Given the description of an element on the screen output the (x, y) to click on. 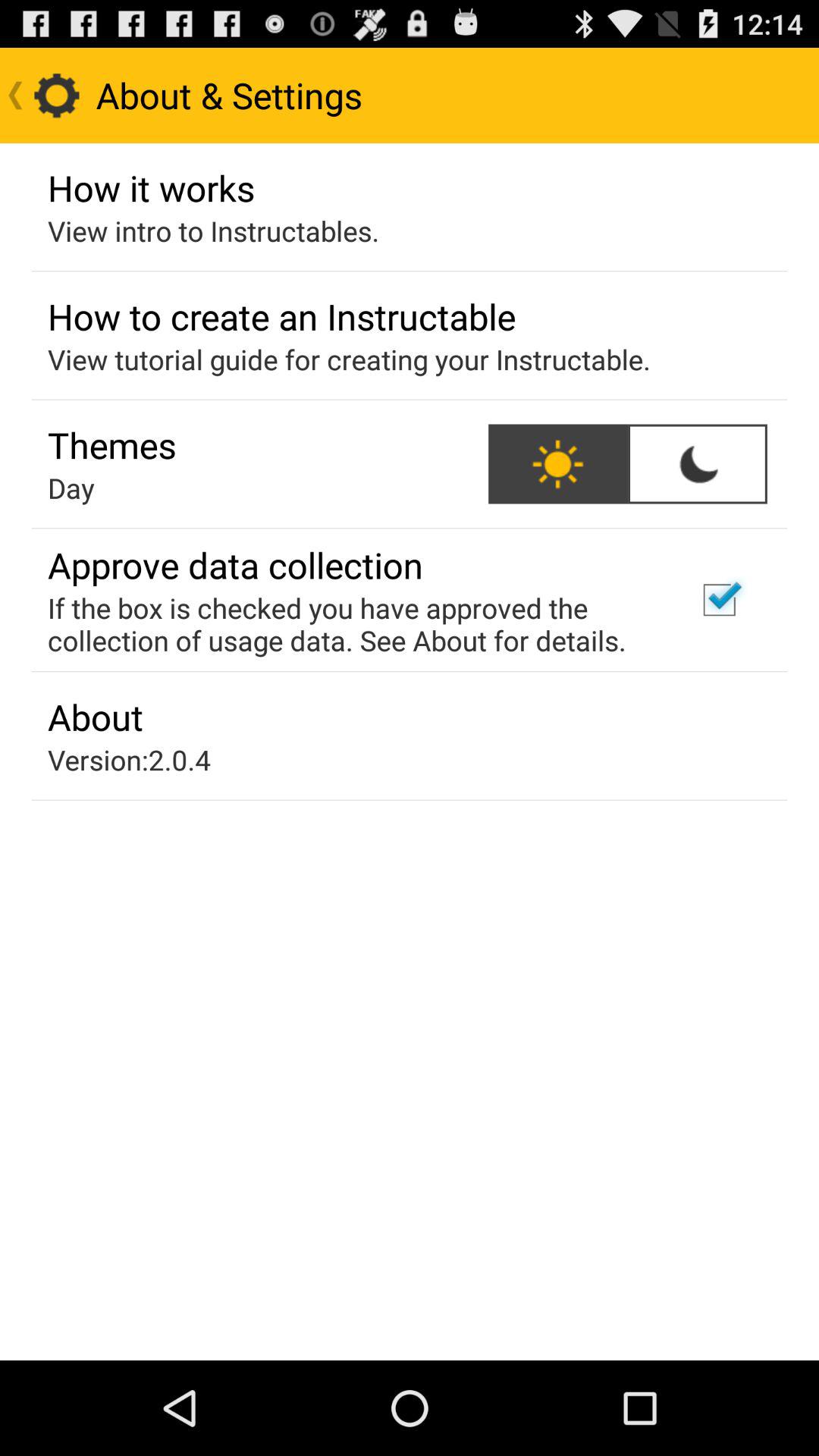
swipe to the how it works app (150, 187)
